Given the description of an element on the screen output the (x, y) to click on. 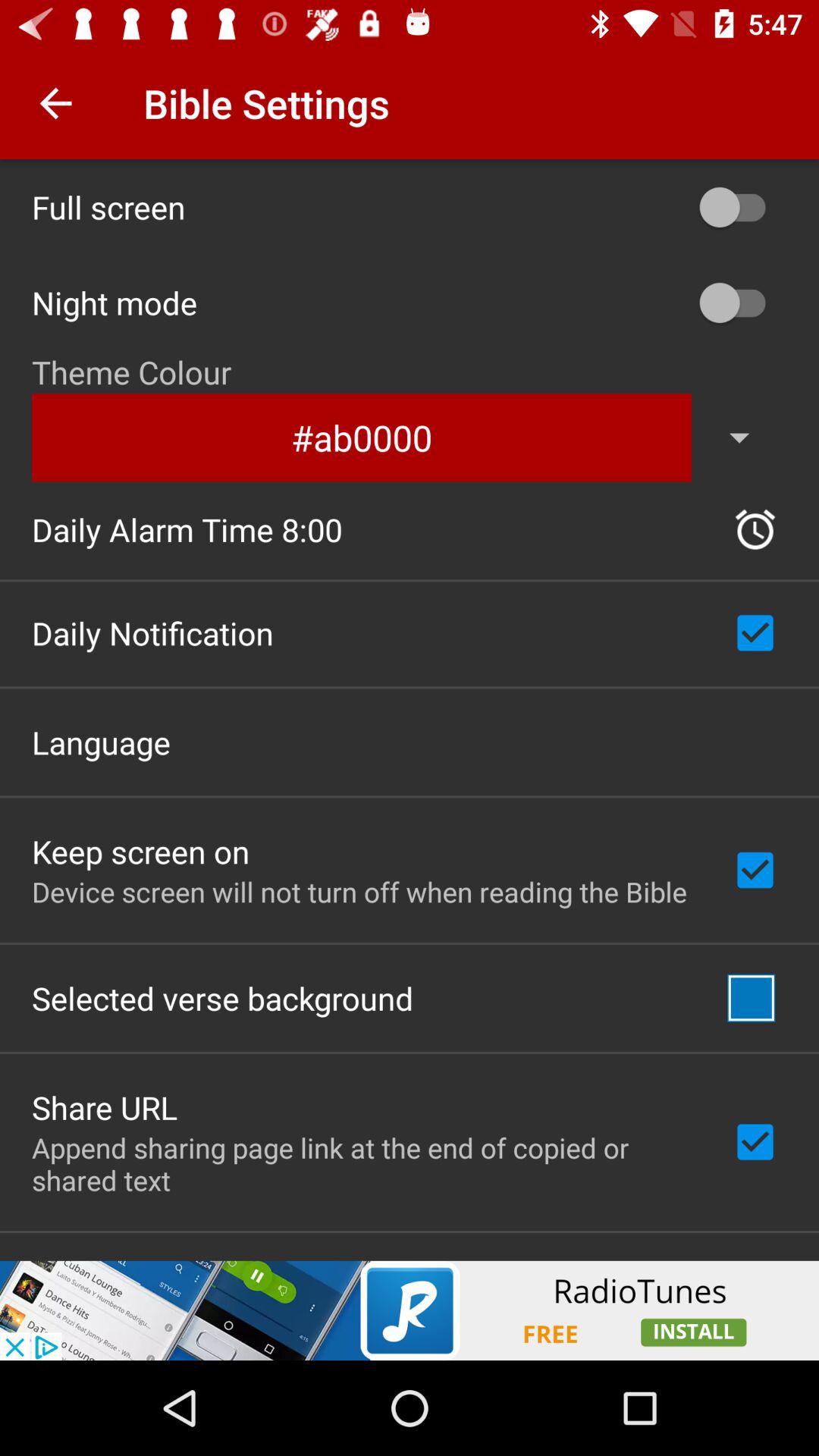
go to advertisement (409, 1310)
